Given the description of an element on the screen output the (x, y) to click on. 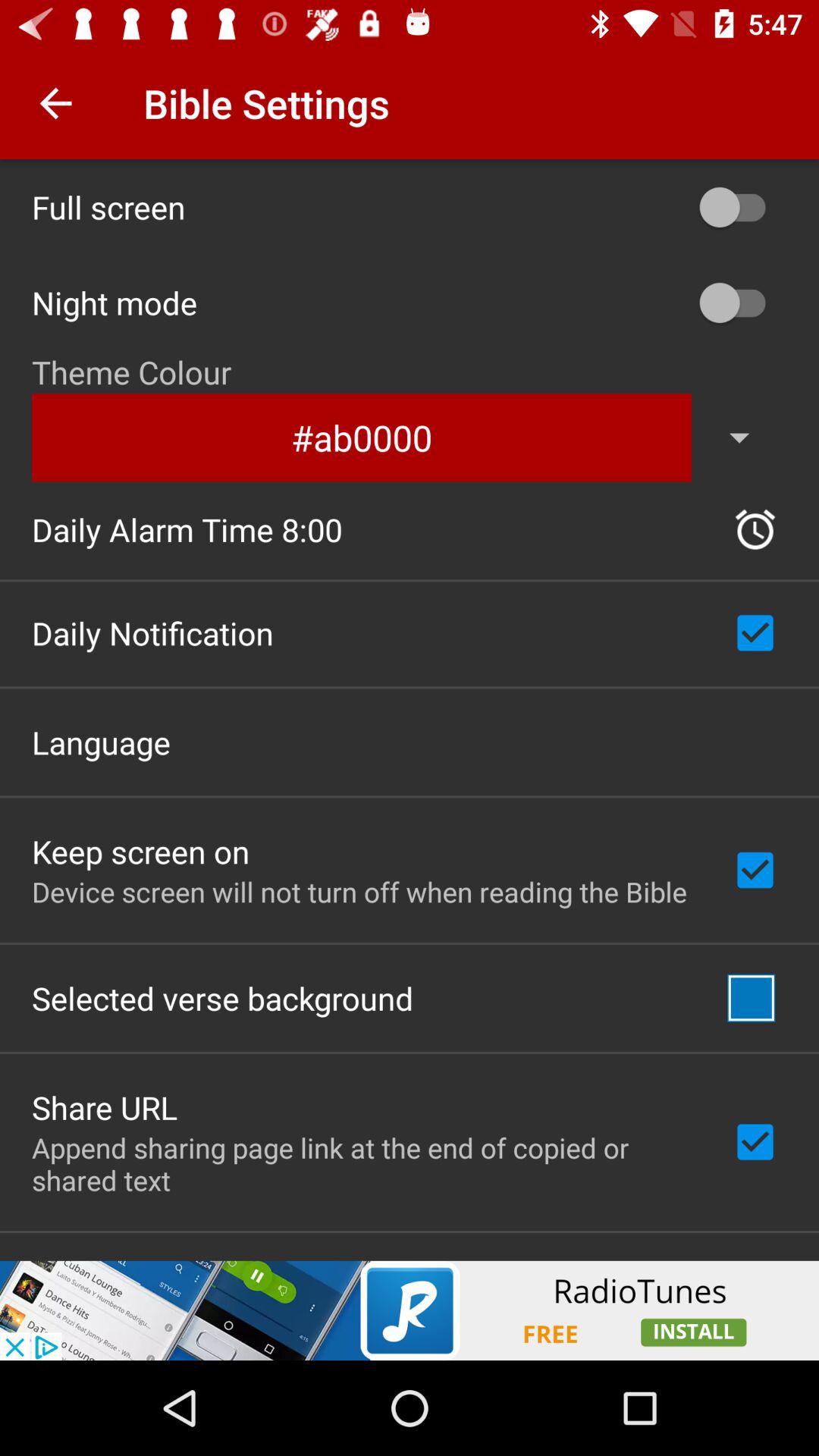
go to advertisement (409, 1310)
